Given the description of an element on the screen output the (x, y) to click on. 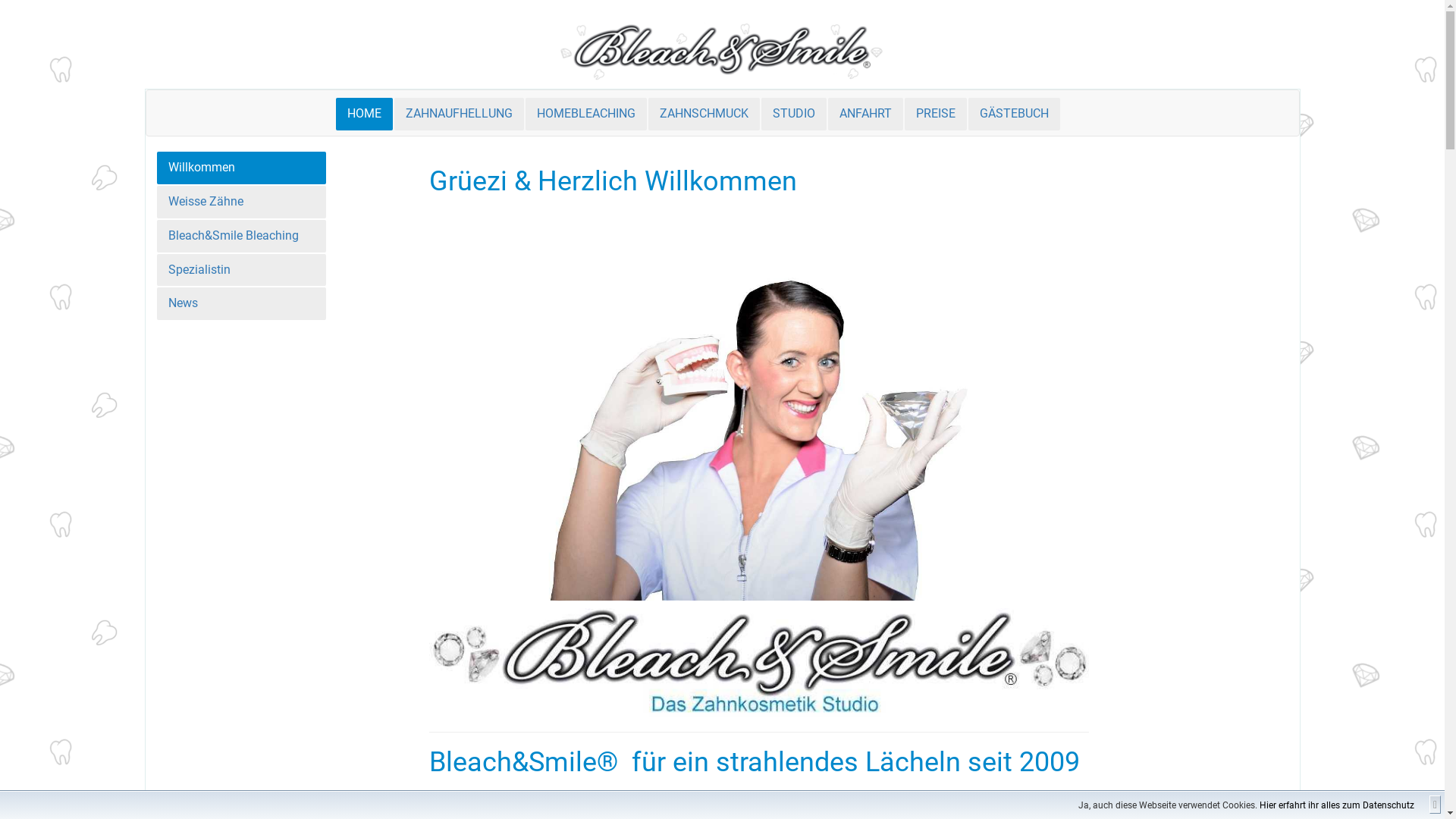
ZAHNAUFHELLUNG Element type: text (459, 113)
Willkommen Element type: text (241, 167)
PREISE Element type: text (934, 113)
ANFAHRT Element type: text (865, 113)
ZAHNSCHMUCK Element type: text (703, 113)
Bleach&Smile Bleaching Element type: text (241, 235)
News Element type: text (241, 303)
HOMEBLEACHING Element type: text (585, 113)
Hier erfahrt ihr alles zum Datenschutz Element type: text (1336, 805)
HOME Element type: text (363, 113)
STUDIO Element type: text (793, 113)
Spezialistin Element type: text (241, 270)
